Given the description of an element on the screen output the (x, y) to click on. 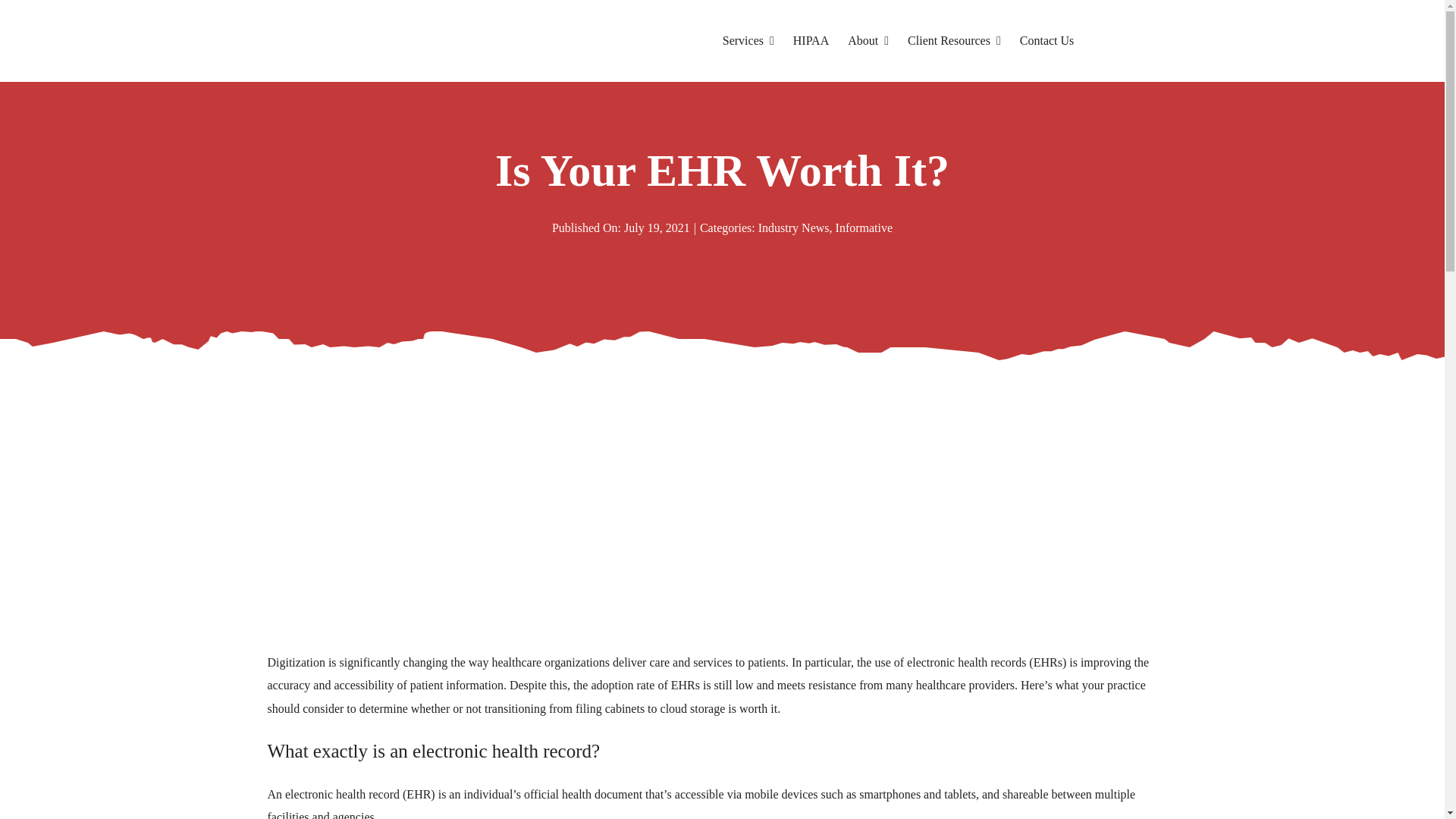
Industry News (793, 227)
Services (748, 40)
Contact Us (1047, 40)
Client Resources (954, 40)
Informative (864, 227)
